Given the description of an element on the screen output the (x, y) to click on. 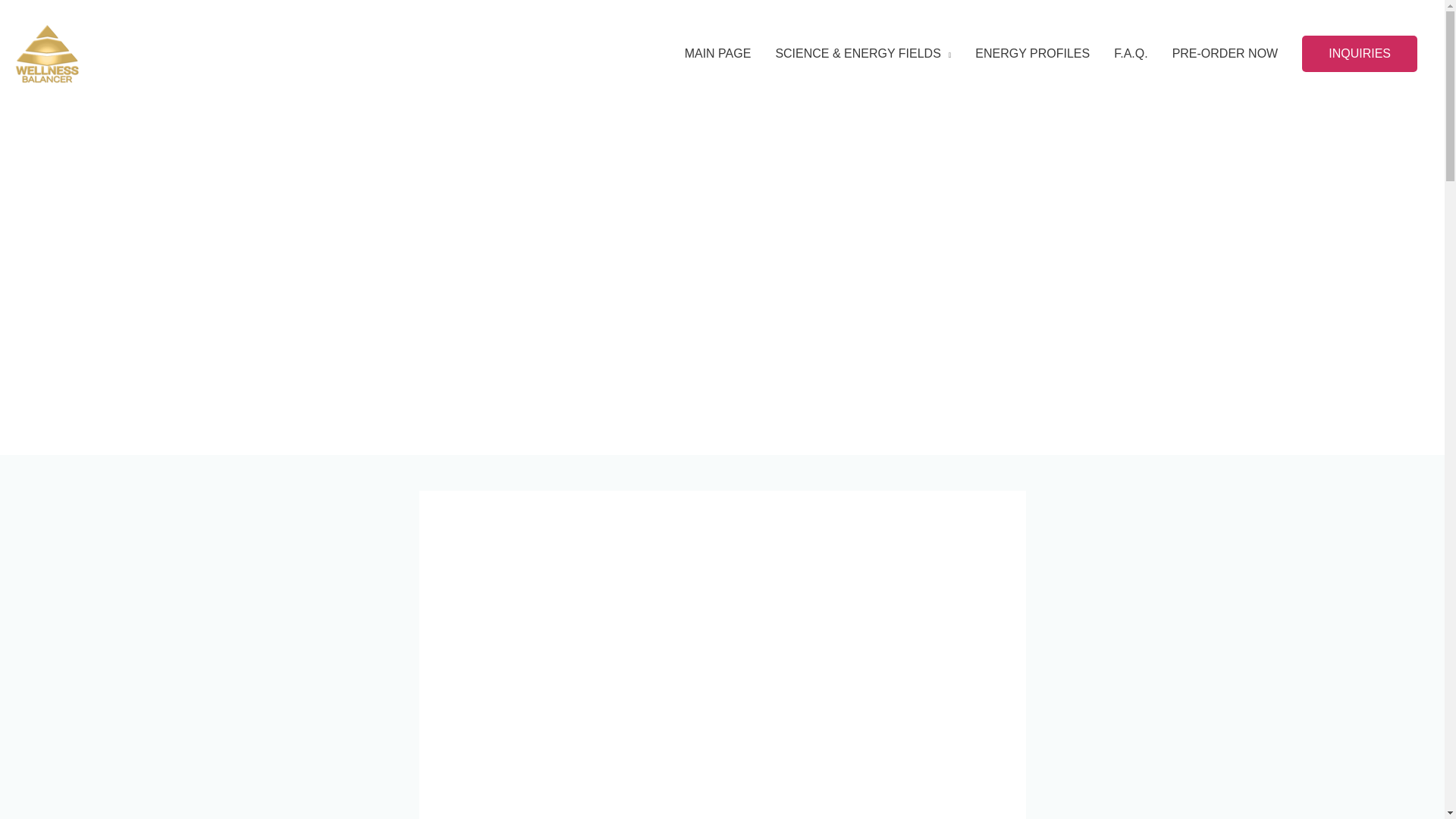
PRE-ORDER NOW (1225, 53)
ENERGY PROFILES (1032, 53)
INQUIRIES (1358, 54)
F.A.Q. (1130, 53)
MAIN PAGE (717, 53)
